Given the description of an element on the screen output the (x, y) to click on. 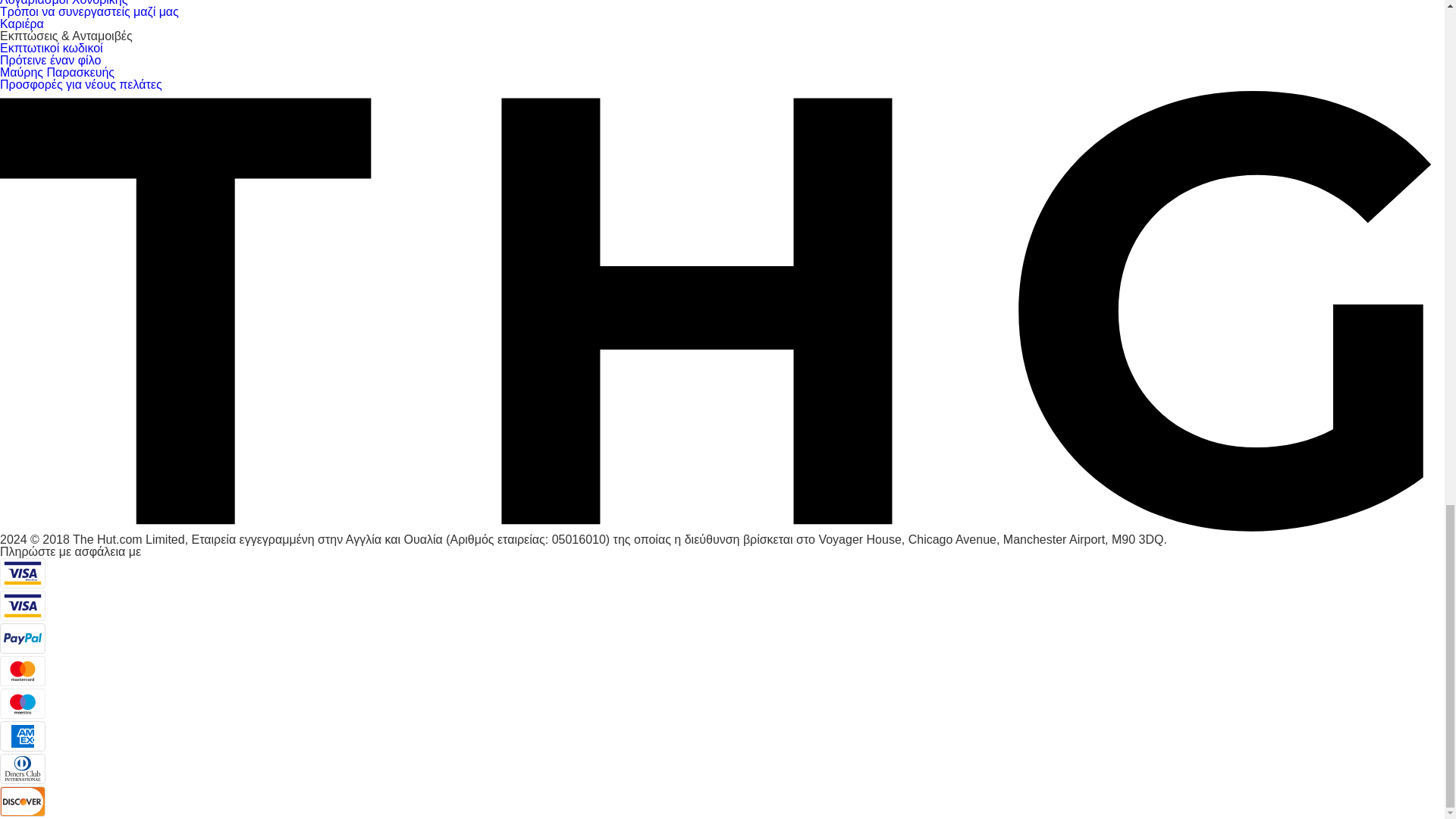
Visa (22, 605)
Mastercard (22, 671)
PayPal (22, 638)
Visa Electron (22, 572)
Maestro (22, 703)
